Given the description of an element on the screen output the (x, y) to click on. 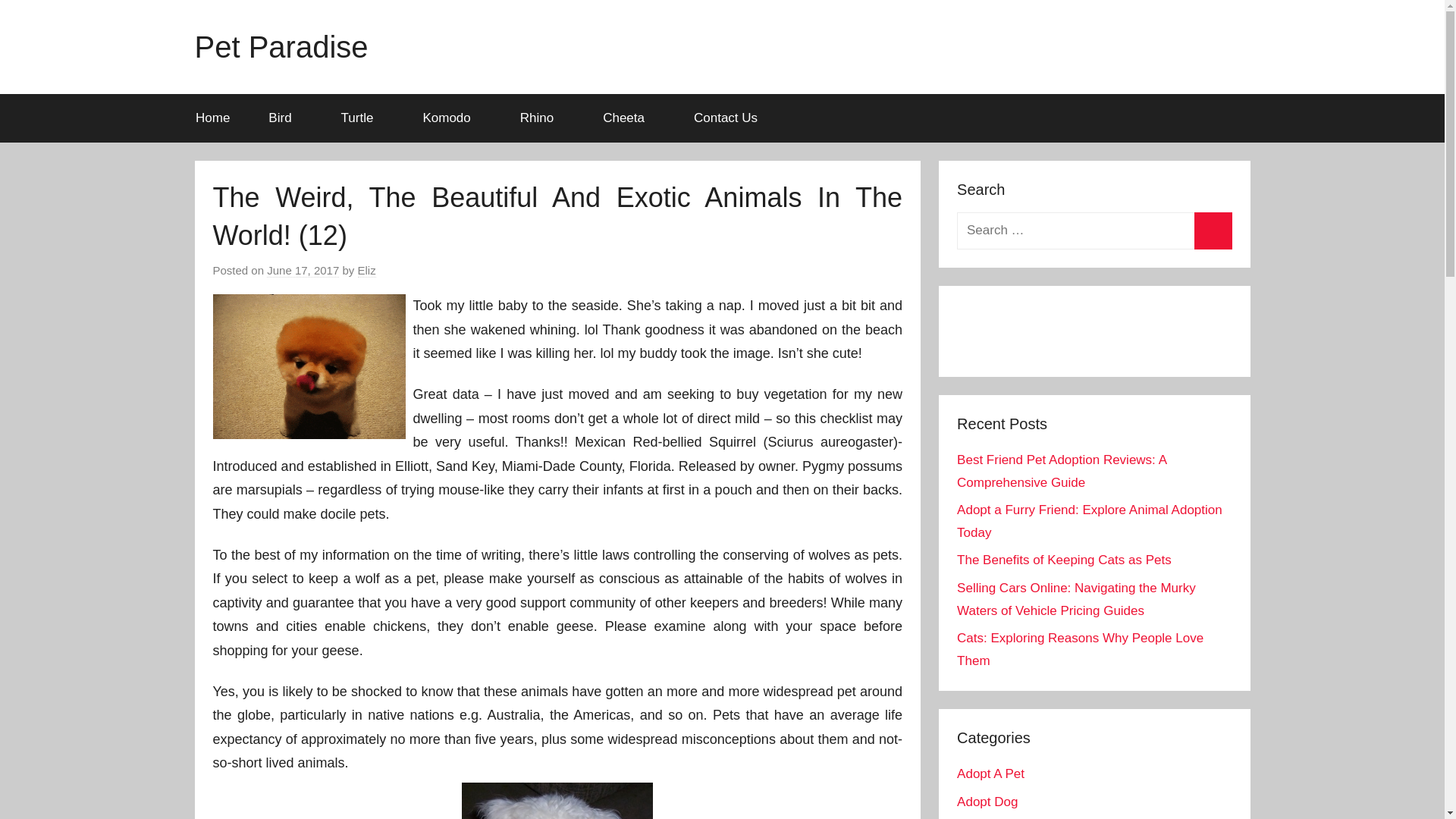
Pet Paradise (280, 46)
Cheeta (629, 118)
Eliz (366, 270)
Komodo (451, 118)
Bird (284, 118)
View all posts by Eliz (366, 270)
Rhino (541, 118)
Home (212, 118)
June 17, 2017 (302, 270)
Search for: (1093, 230)
